Given the description of an element on the screen output the (x, y) to click on. 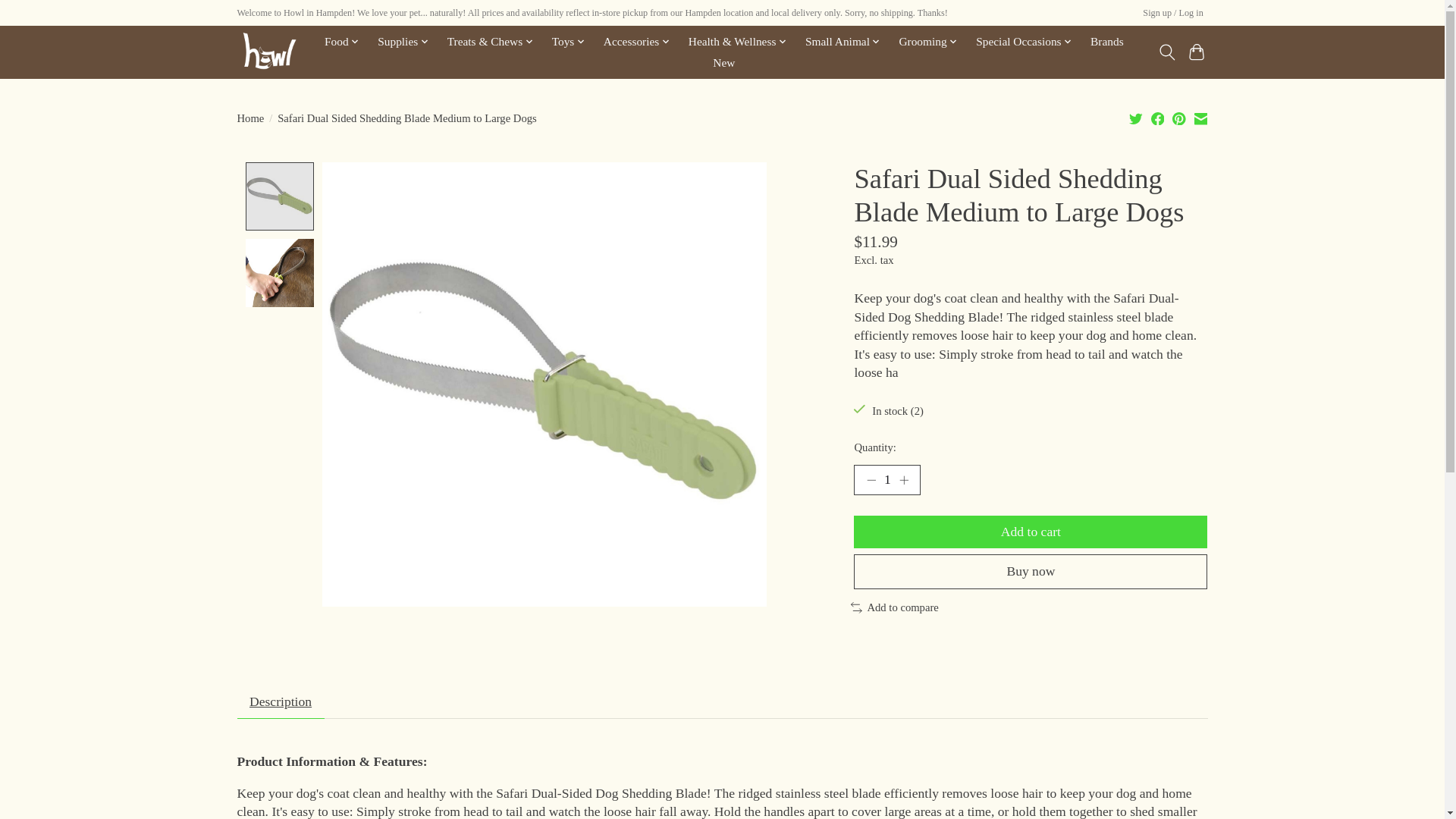
Share by Email (1200, 118)
Shop Howl Online - Baltimore's Favorite Pet Supply (266, 51)
1 (886, 480)
Supplies (402, 41)
Toys (568, 41)
Share on Pinterest (1178, 118)
Food (341, 41)
Share on Facebook (1157, 118)
Share on Twitter (1135, 118)
My account (1173, 13)
